Given the description of an element on the screen output the (x, y) to click on. 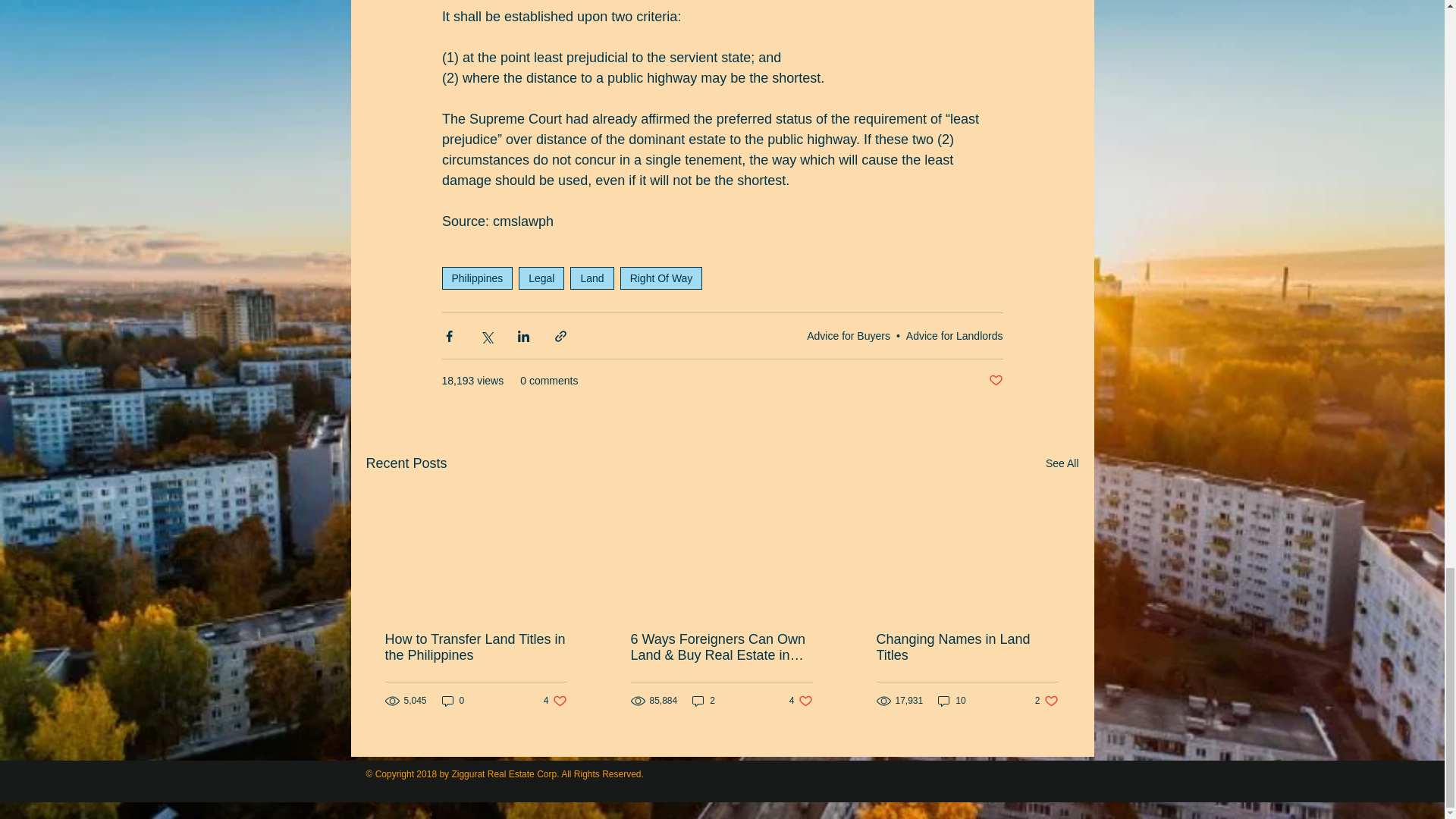
Legal (541, 277)
Philippines (476, 277)
Right Of Way (661, 277)
Land (591, 277)
